Given the description of an element on the screen output the (x, y) to click on. 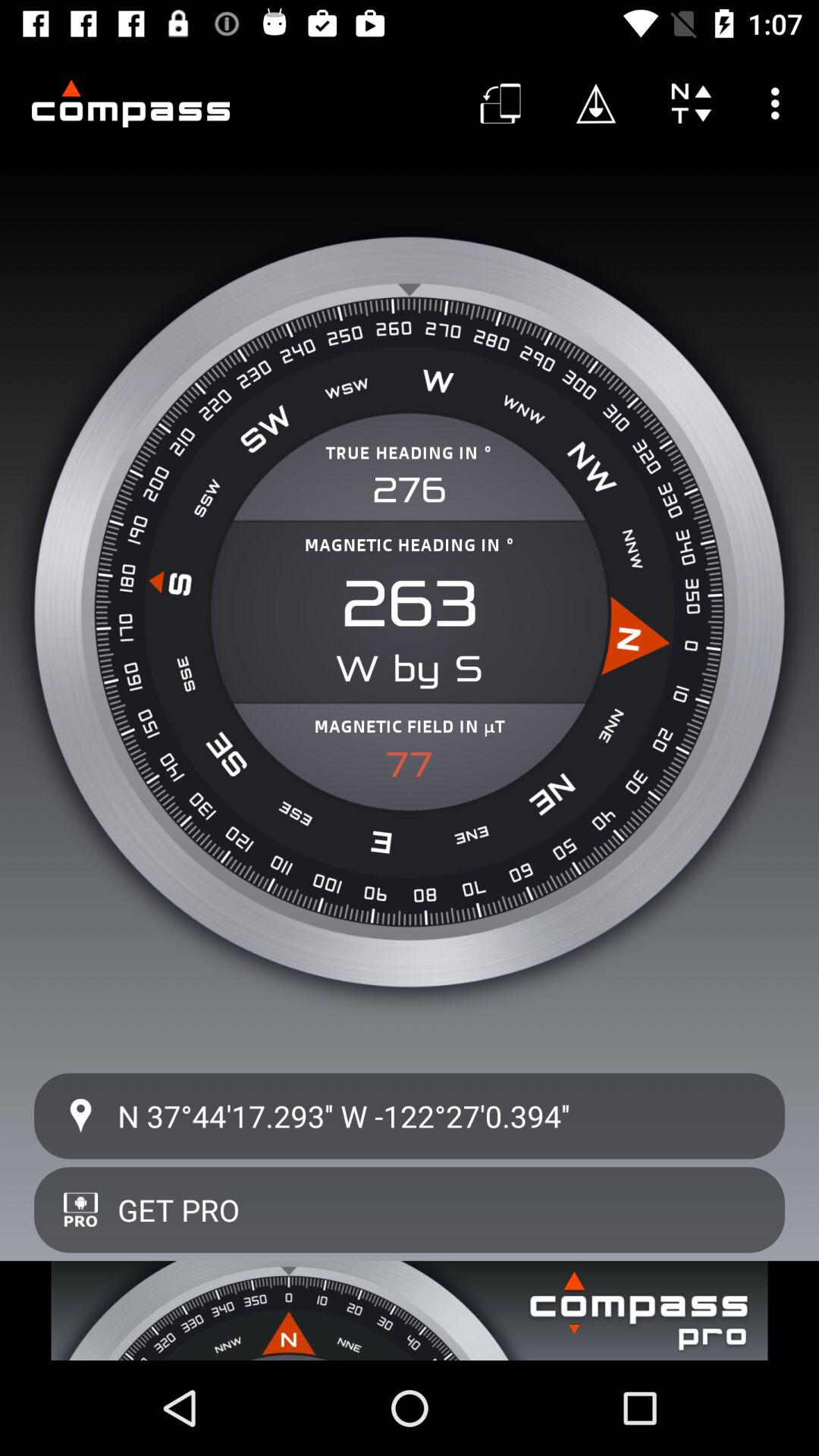
turn on the icon above the n 37 44 icon (409, 764)
